Given the description of an element on the screen output the (x, y) to click on. 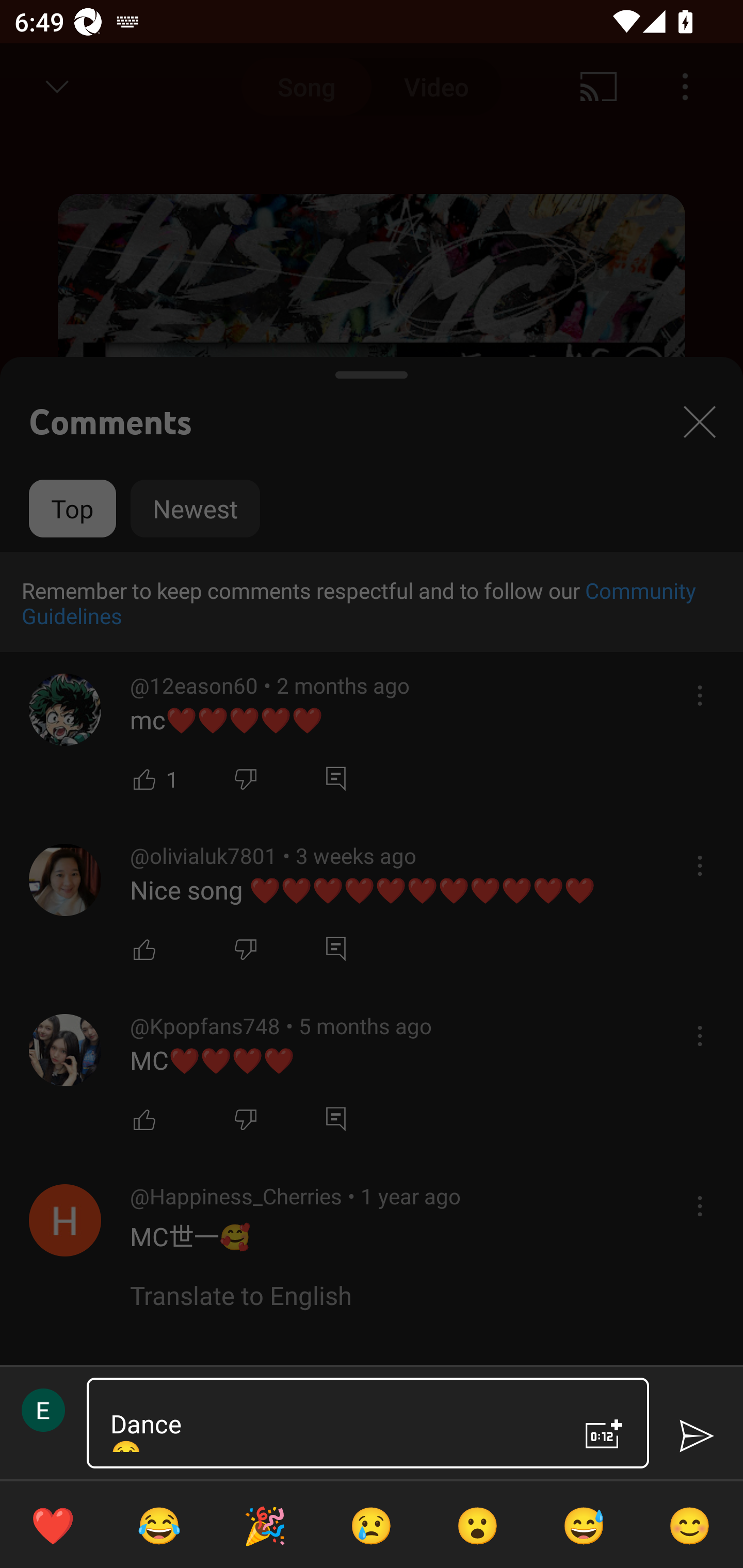
Dance
😢 (329, 1422)
Add a timestamp (603, 1433)
Send comment (695, 1436)
❤ (53, 1524)
😂 (158, 1524)
🎉 (264, 1524)
😢 (371, 1524)
😮 (477, 1524)
😅 (583, 1524)
😊 (689, 1524)
